Given the description of an element on the screen output the (x, y) to click on. 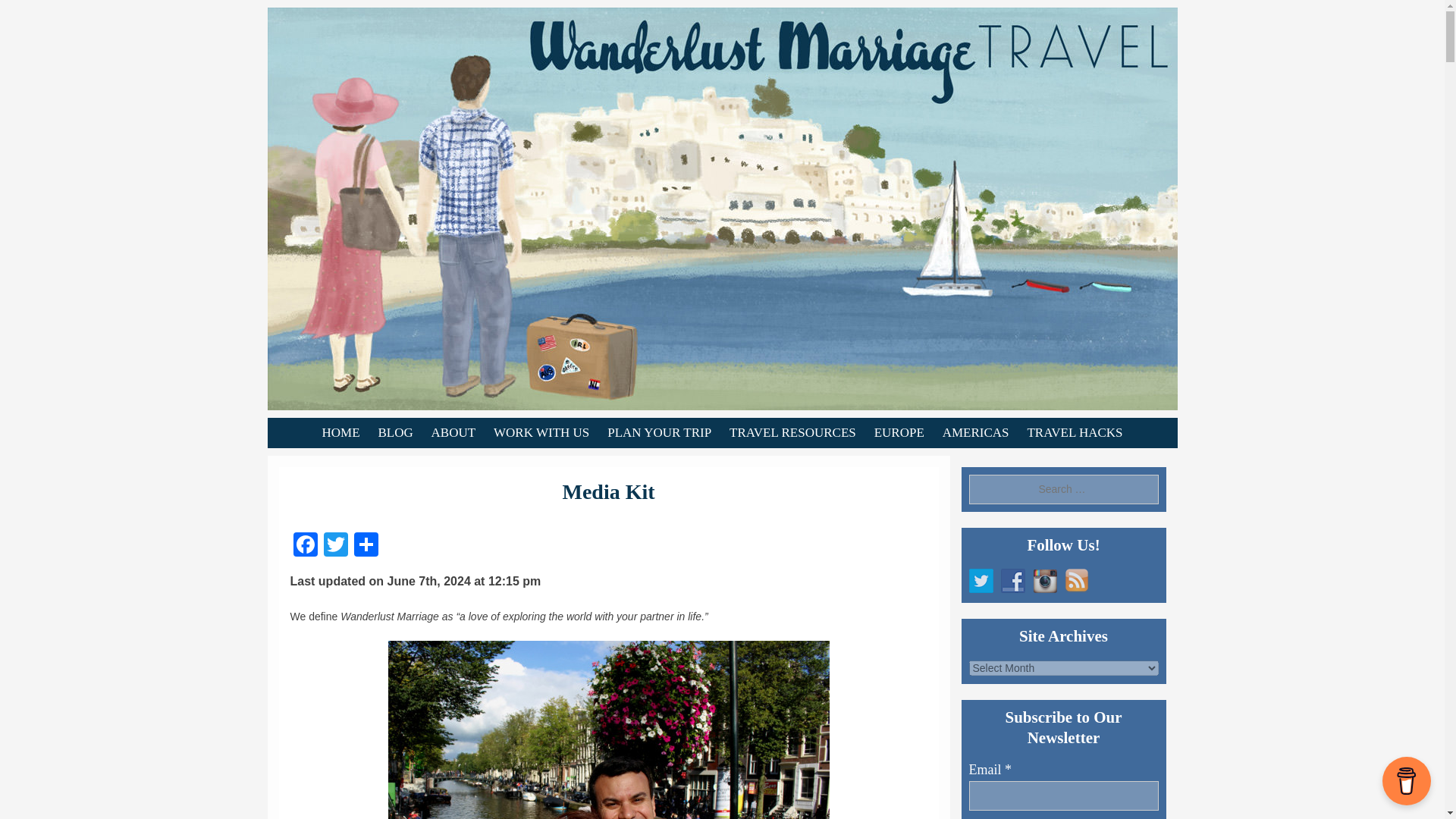
TRAVEL HACKS (1074, 432)
Instagram (1044, 580)
RSS (1076, 580)
HOME (340, 432)
Facebook (304, 546)
TRAVEL RESOURCES (792, 432)
Twitter (980, 580)
Twitter (335, 546)
Twitter (335, 546)
Facebook (304, 546)
FB (1013, 580)
BLOG (394, 432)
PLAN YOUR TRIP (659, 432)
Email (1063, 795)
WORK WITH US (541, 432)
